Given the description of an element on the screen output the (x, y) to click on. 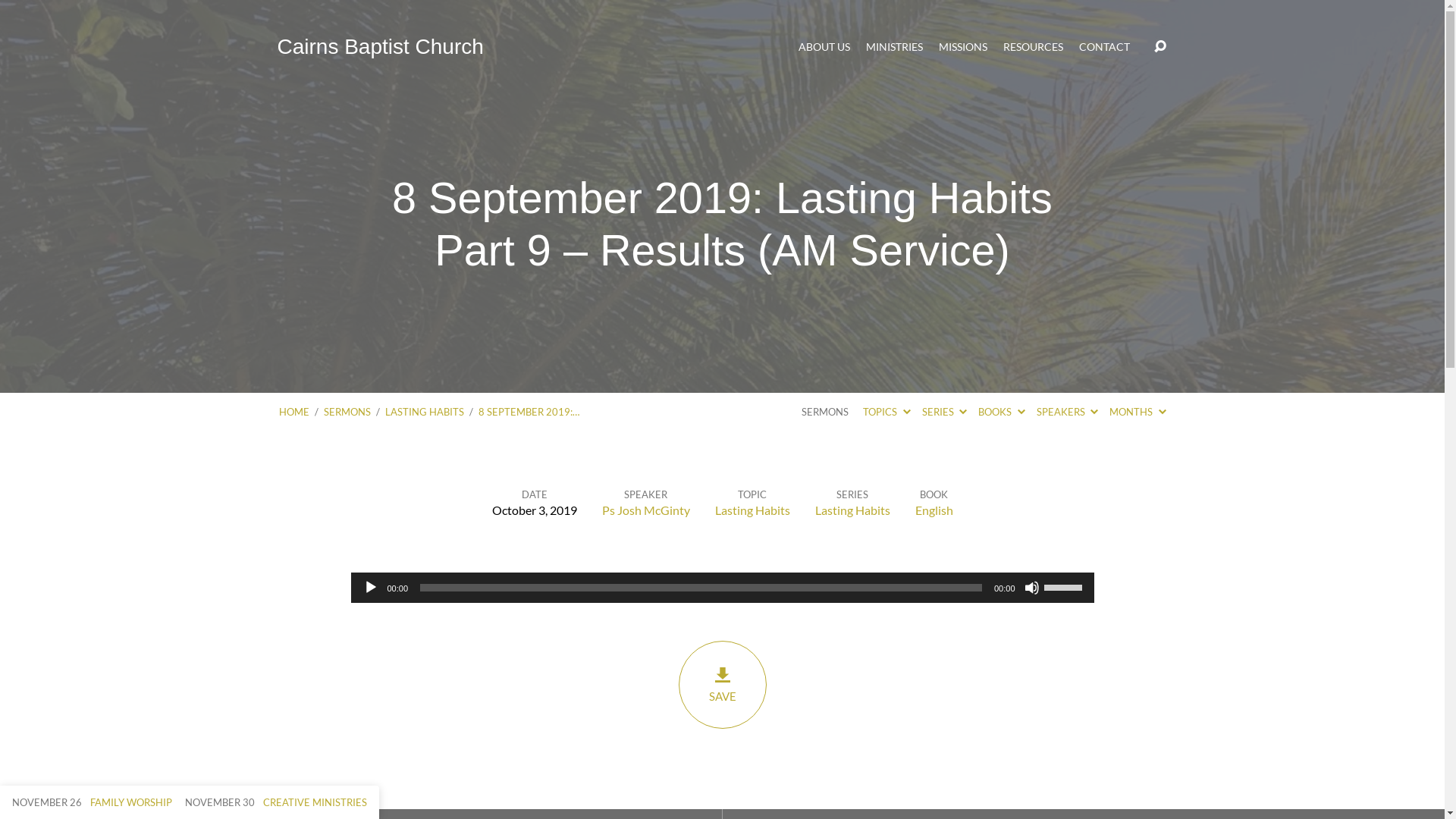
NOVEMBER 26 FAMILY WORSHIP Element type: text (92, 802)
CONTACT Element type: text (1104, 46)
NOVEMBER 30 CREATIVE MINISTRIES Element type: text (276, 802)
TOPICS Element type: text (886, 411)
LASTING HABITS Element type: text (424, 411)
Cairns Baptist Church Element type: text (380, 46)
Ps Josh McGinty Element type: text (646, 509)
SAVE Element type: text (721, 684)
MISSIONS Element type: text (962, 46)
Lasting Habits Element type: text (751, 509)
SERIES Element type: text (944, 411)
RESOURCES Element type: text (1033, 46)
SERMONS Element type: text (346, 411)
MINISTRIES Element type: text (894, 46)
SPEAKERS Element type: text (1067, 411)
HOME Element type: text (294, 411)
English Element type: text (933, 509)
Use Up/Down Arrow keys to increase or decrease volume. Element type: text (1064, 585)
Lasting Habits Element type: text (851, 509)
Mute Element type: hover (1030, 587)
ABOUT US Element type: text (824, 46)
BOOKS Element type: text (1001, 411)
MONTHS Element type: text (1137, 411)
Play Element type: hover (369, 587)
